Given the description of an element on the screen output the (x, y) to click on. 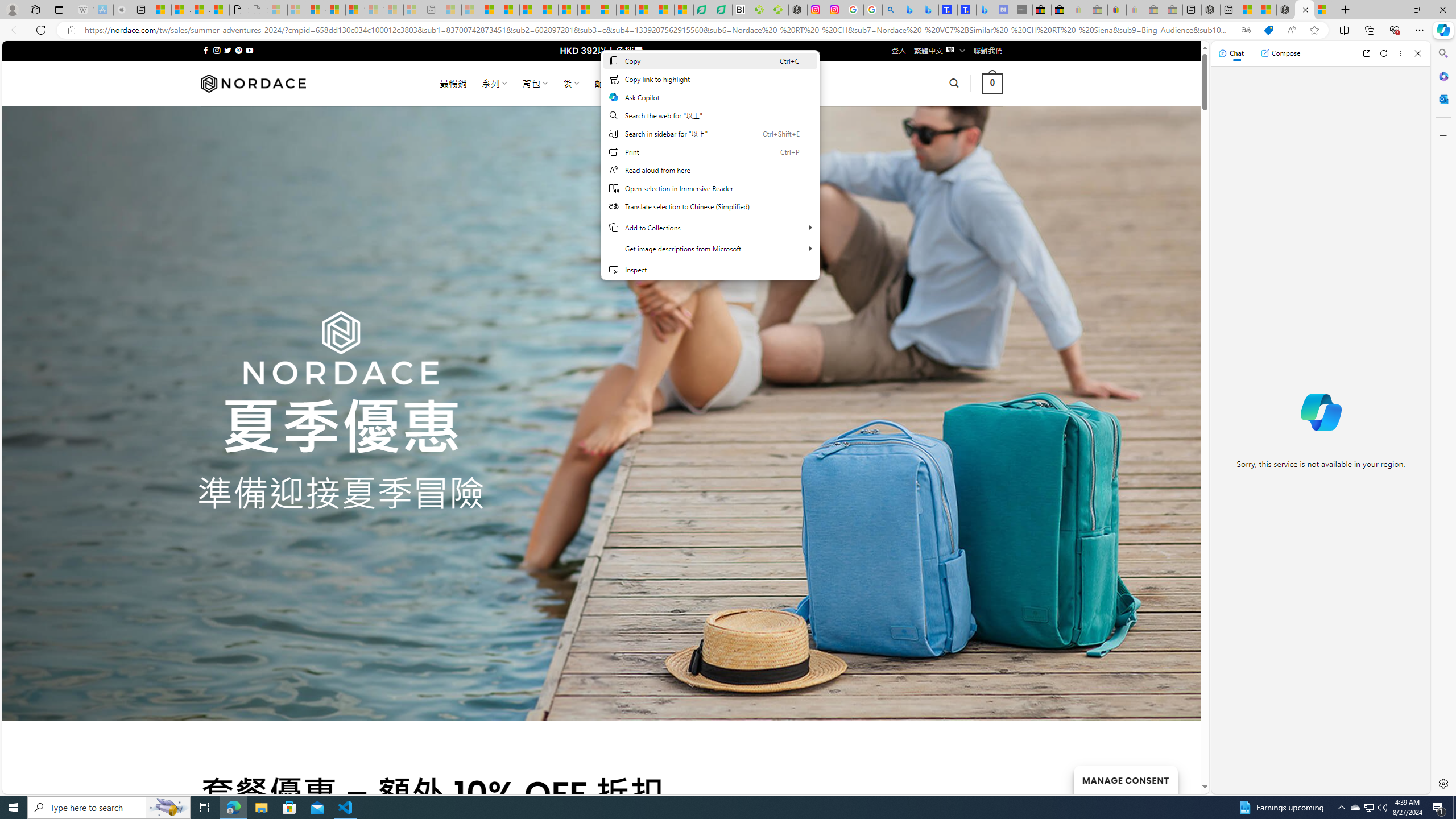
Foo BAR | Trusted Community Engagement and Contributions (586, 9)
Food and Drink - MSN (509, 9)
Microsoft Bing Travel - Stays in Bangkok, Bangkok, Thailand (929, 9)
Follow on Facebook (205, 50)
Microsoft Bing Travel - Flights from Hong Kong to Bangkok (910, 9)
This site has coupons! Shopping in Microsoft Edge (1268, 29)
